Given the description of an element on the screen output the (x, y) to click on. 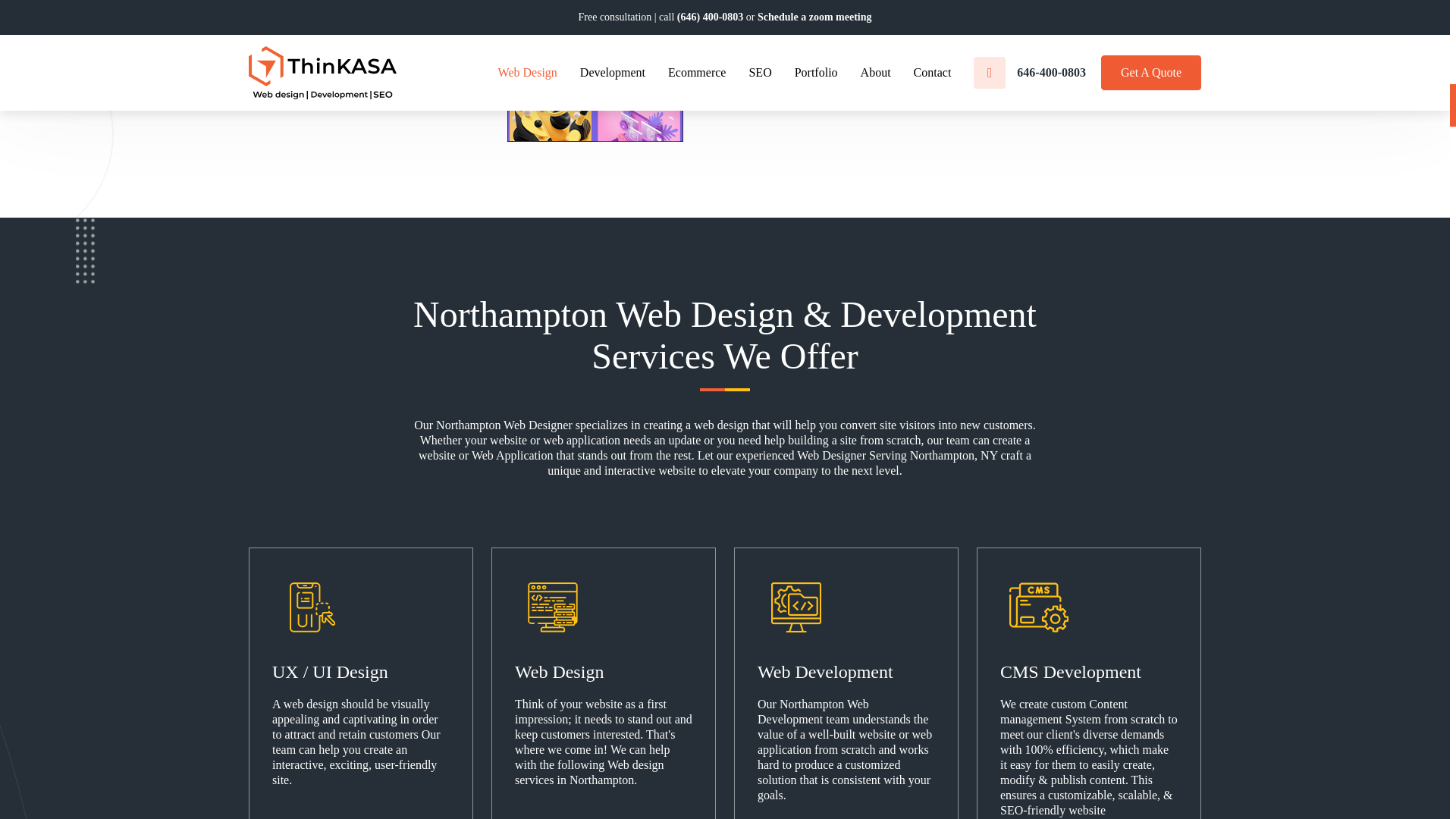
About US (777, 83)
